Given the description of an element on the screen output the (x, y) to click on. 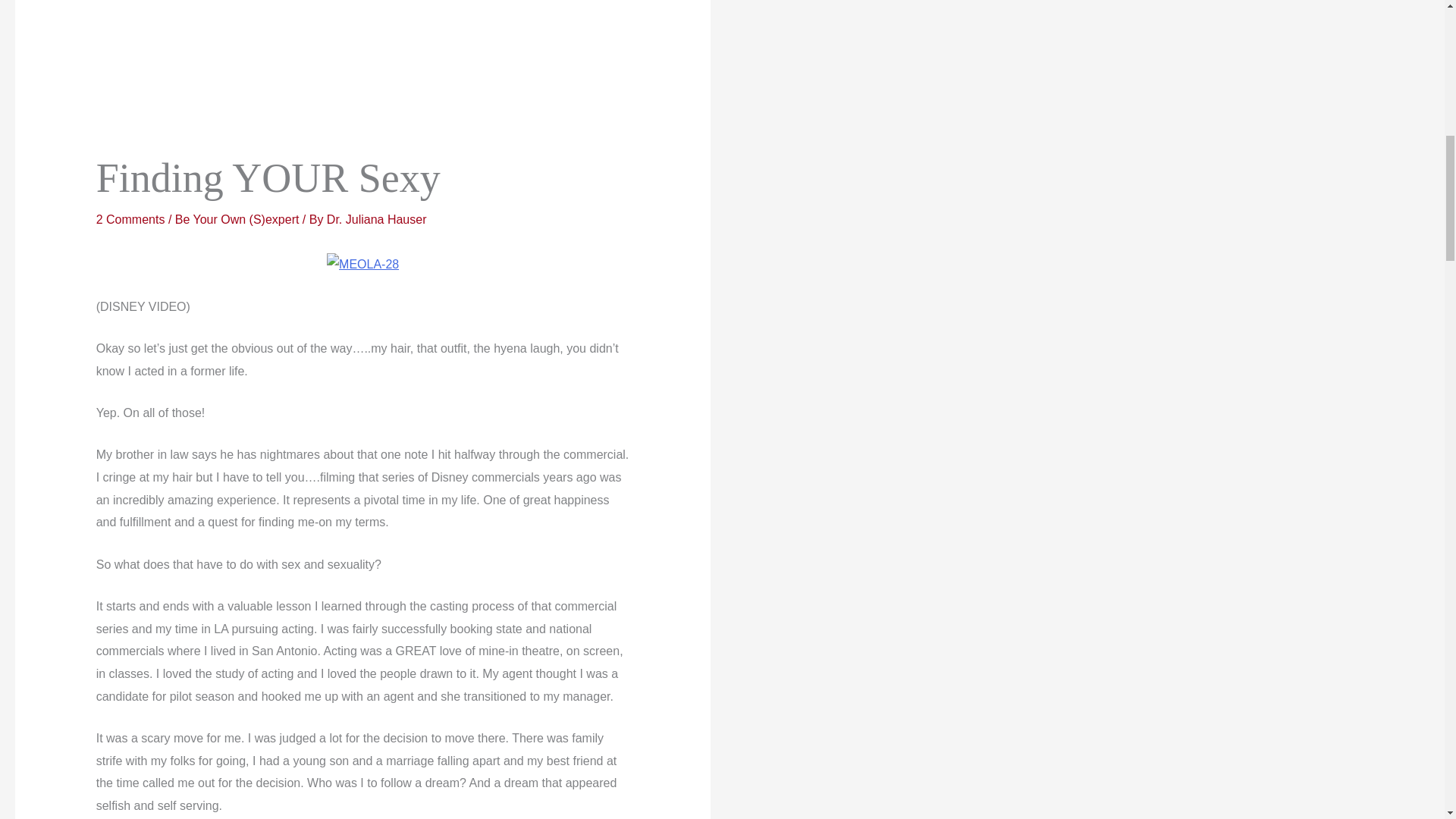
2 Comments (130, 219)
View all posts by Dr. Juliana Hauser (376, 219)
